Given the description of an element on the screen output the (x, y) to click on. 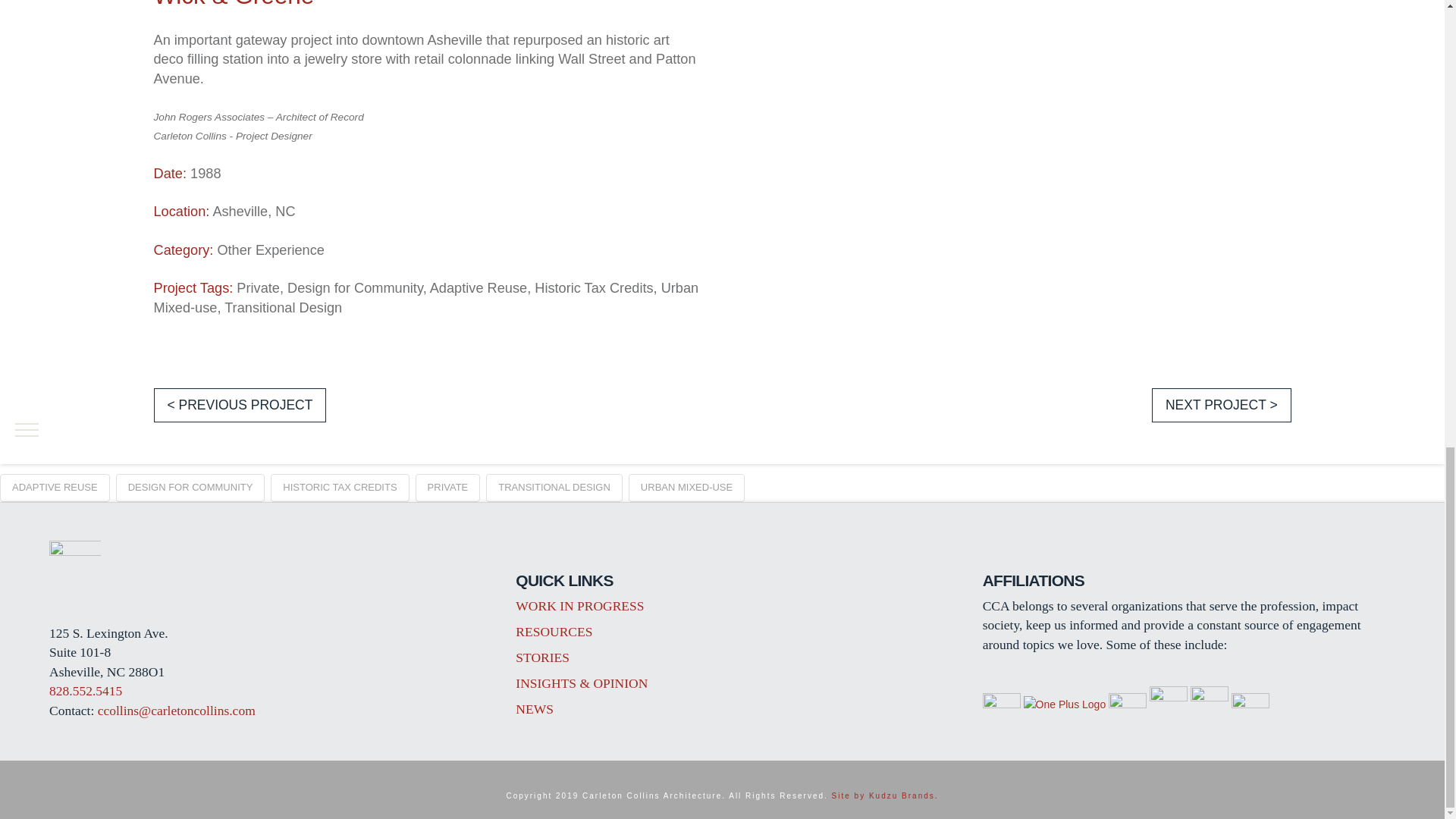
PRIVATE (447, 488)
URBAN MIXED-USE (686, 488)
828.552.5415 (85, 690)
DESIGN FOR COMMUNITY (190, 488)
HISTORIC TAX CREDITS (339, 488)
ADAPTIVE REUSE (55, 488)
TRANSITIONAL DESIGN (554, 488)
WORK IN PROGRESS (579, 605)
